Given the description of an element on the screen output the (x, y) to click on. 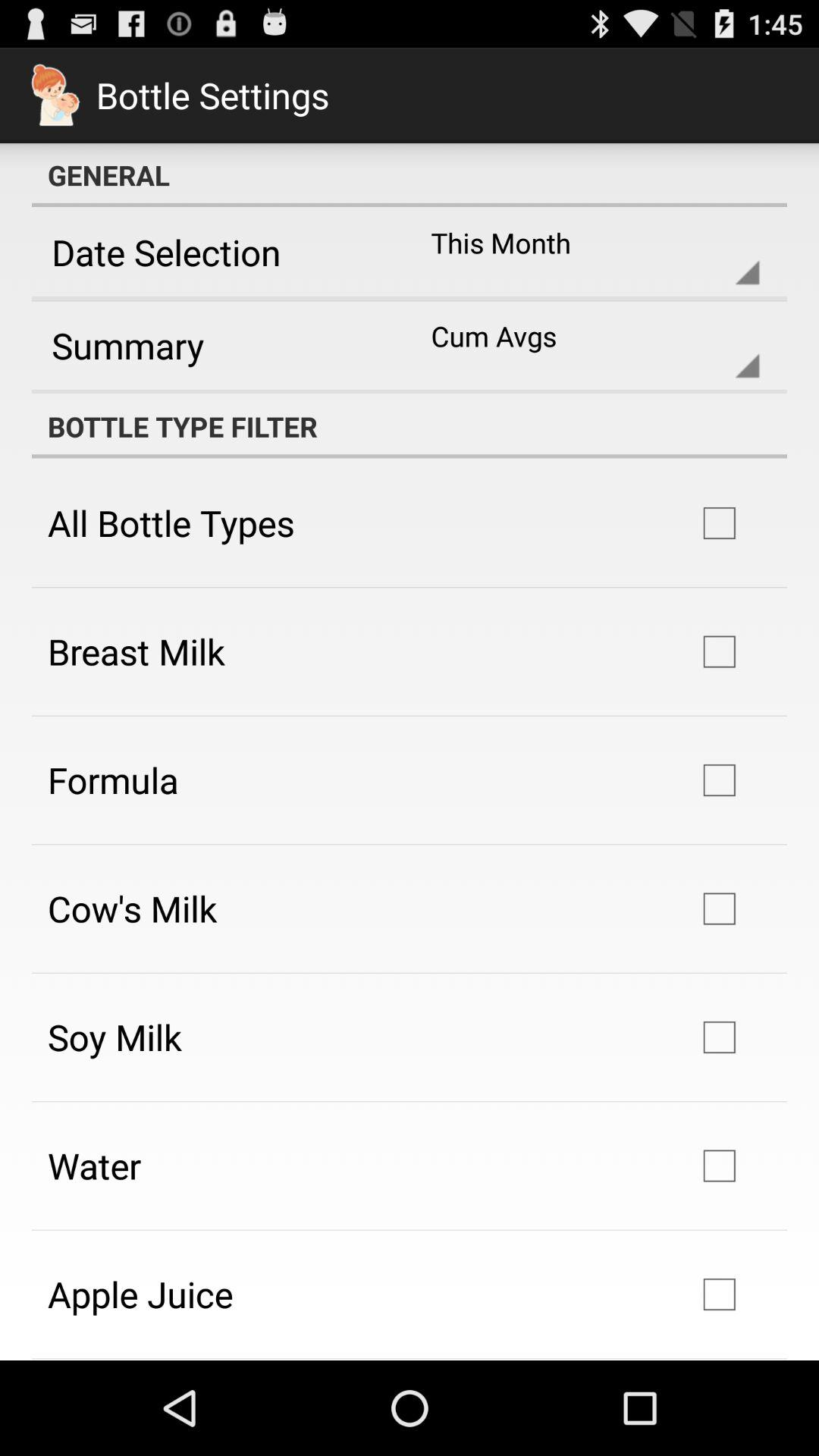
open item above date selection app (409, 175)
